Given the description of an element on the screen output the (x, y) to click on. 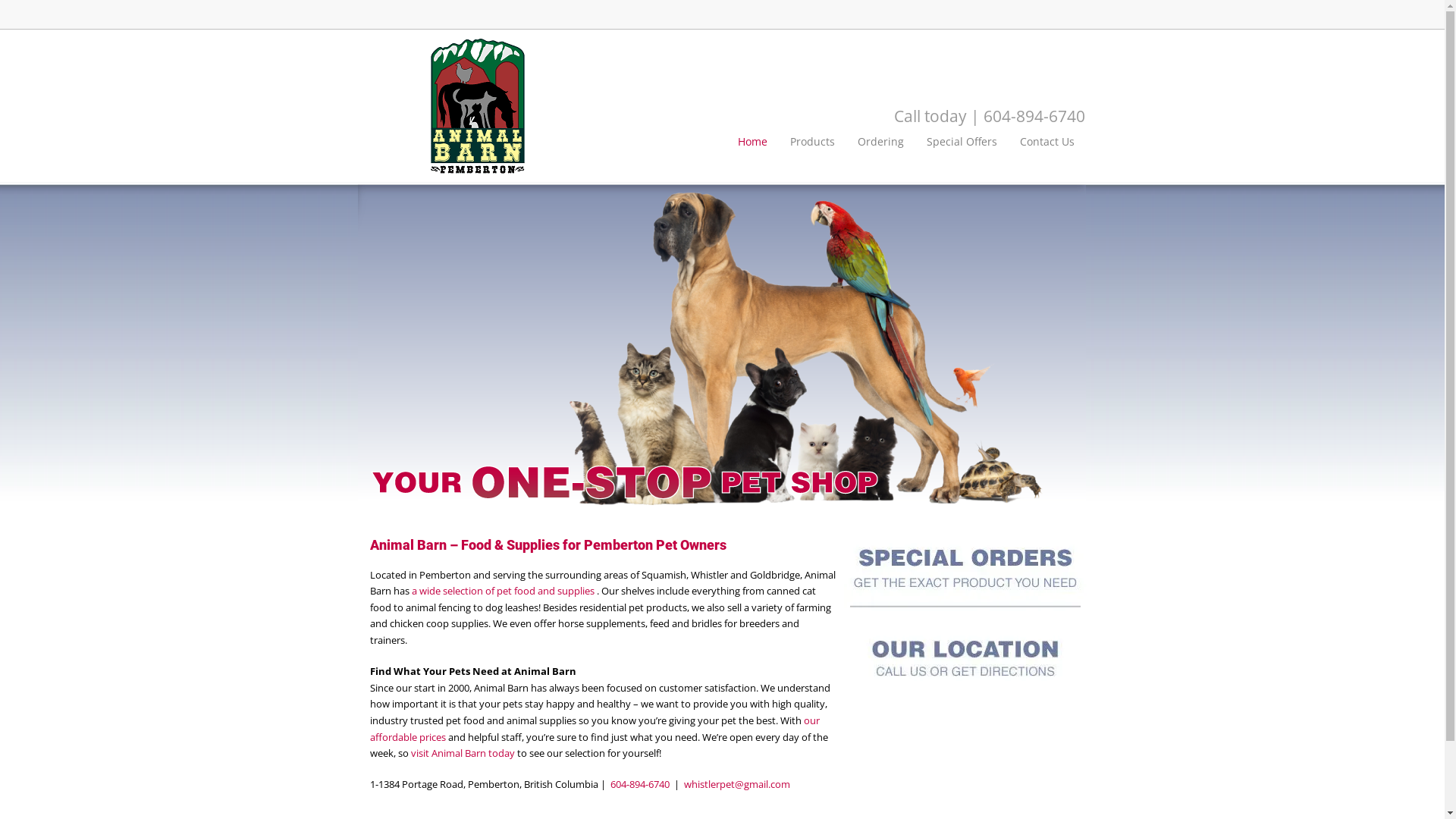
Special Offers Element type: text (961, 141)
Contact Us Element type: text (1046, 141)
Home Element type: text (752, 141)
our affordable prices Element type: text (594, 728)
Products Element type: text (812, 141)
a wide selection of pet food and supplies Element type: text (503, 590)
Ordering Element type: text (880, 141)
604-894-6740 Element type: text (638, 783)
Embedded Content Element type: hover (1069, 15)
visit Animal Barn today Element type: text (464, 752)
whistlerpet@gmail.com Element type: text (737, 783)
604-894-6740 Element type: text (1033, 115)
Embedded Content Element type: hover (943, 15)
